Given the description of an element on the screen output the (x, y) to click on. 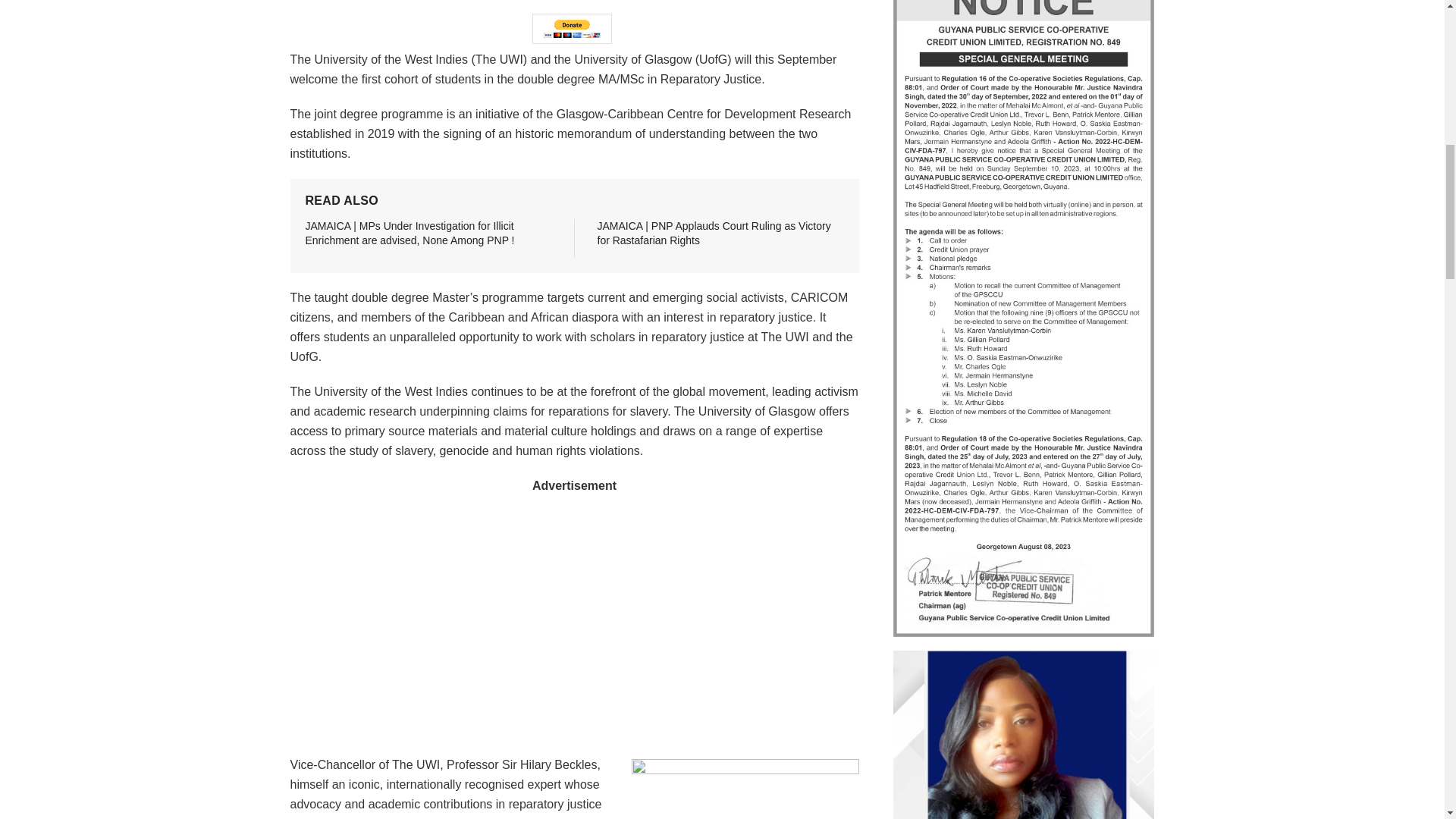
PayPal - The safer, easier way to pay online! (571, 28)
